Given the description of an element on the screen output the (x, y) to click on. 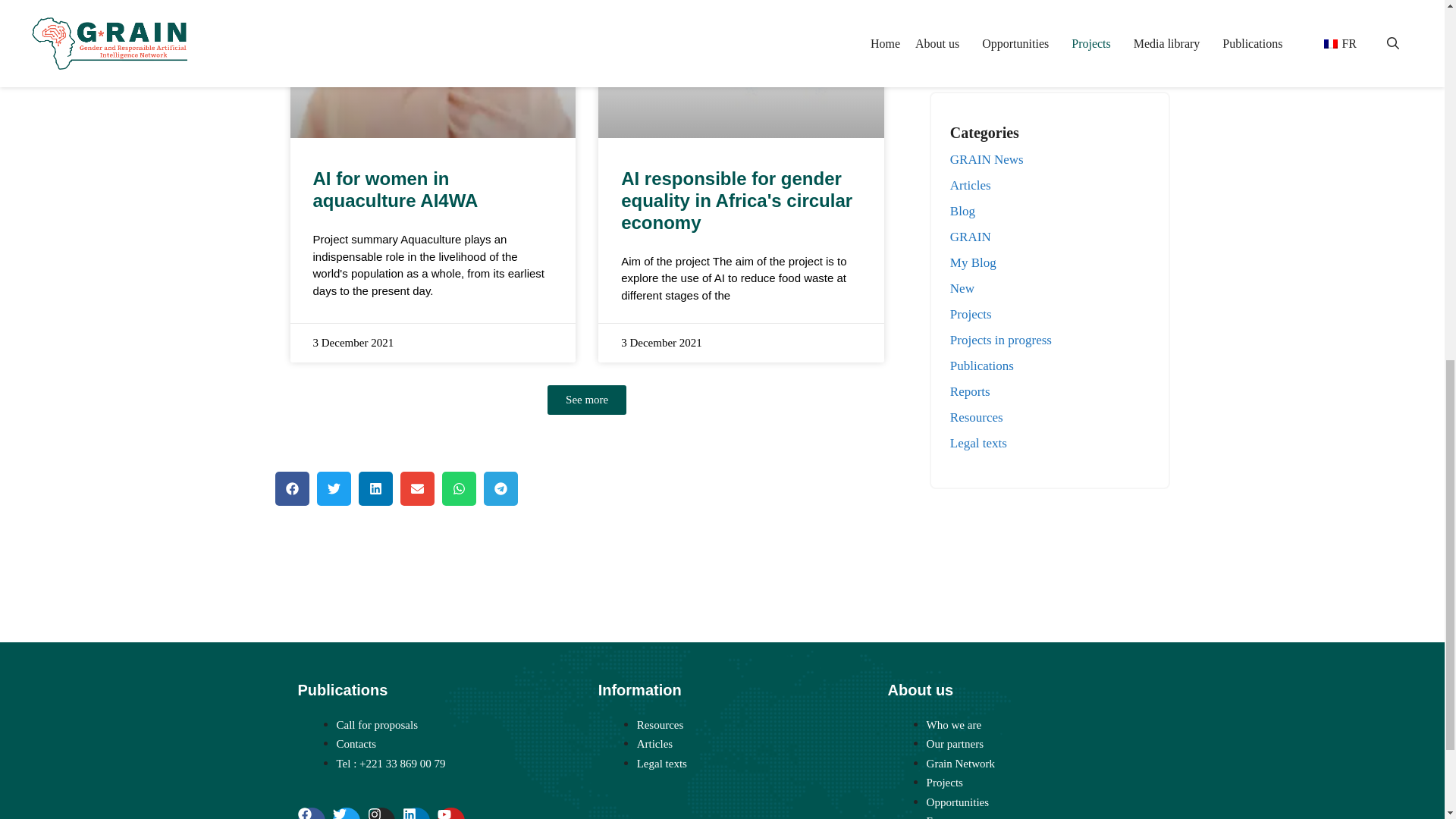
AI for women in aquaculture AI4WA (395, 189)
See more (586, 399)
